Given the description of an element on the screen output the (x, y) to click on. 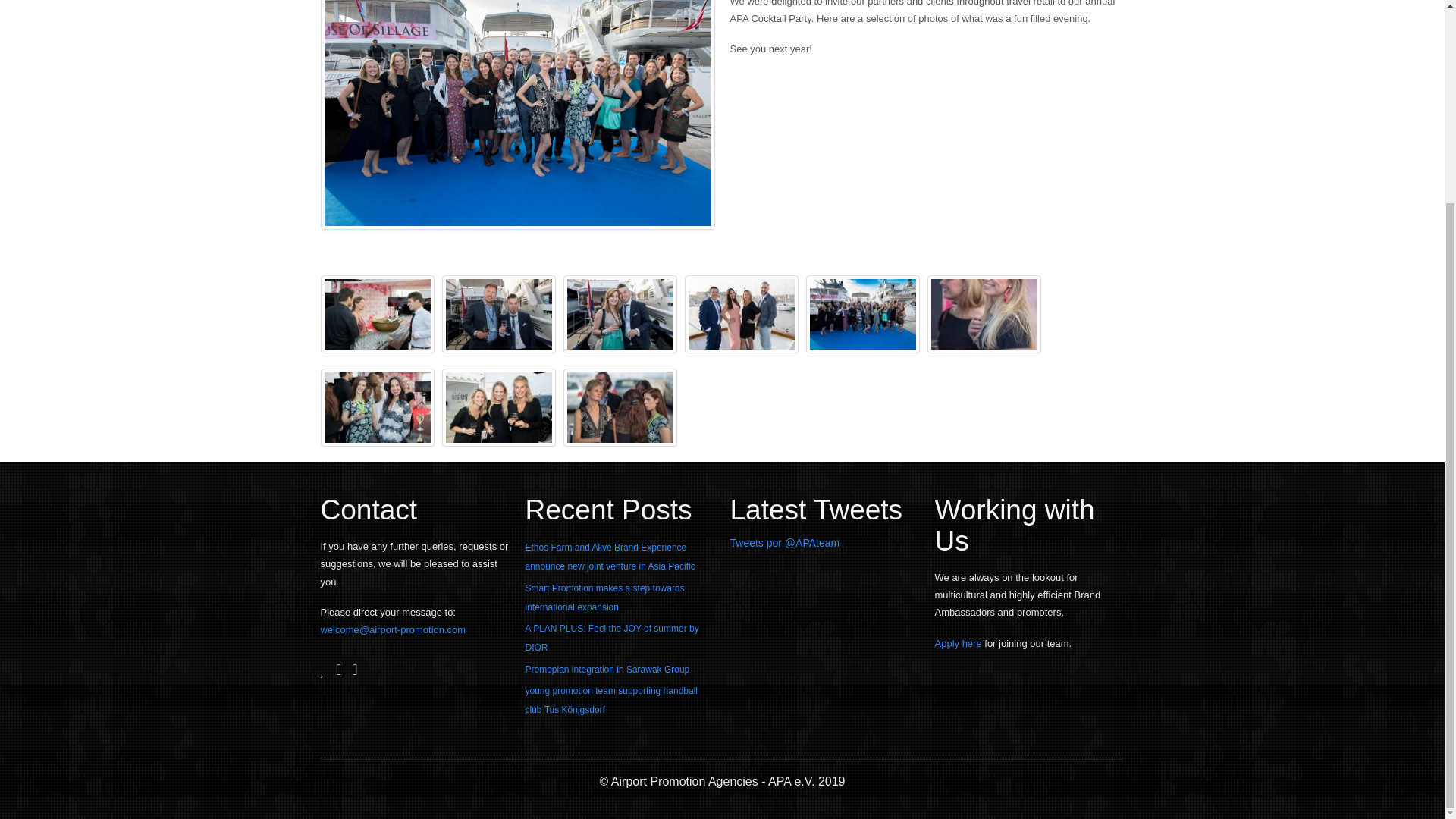
Smart Promotion makes a step towards international expansion (604, 597)
